Given the description of an element on the screen output the (x, y) to click on. 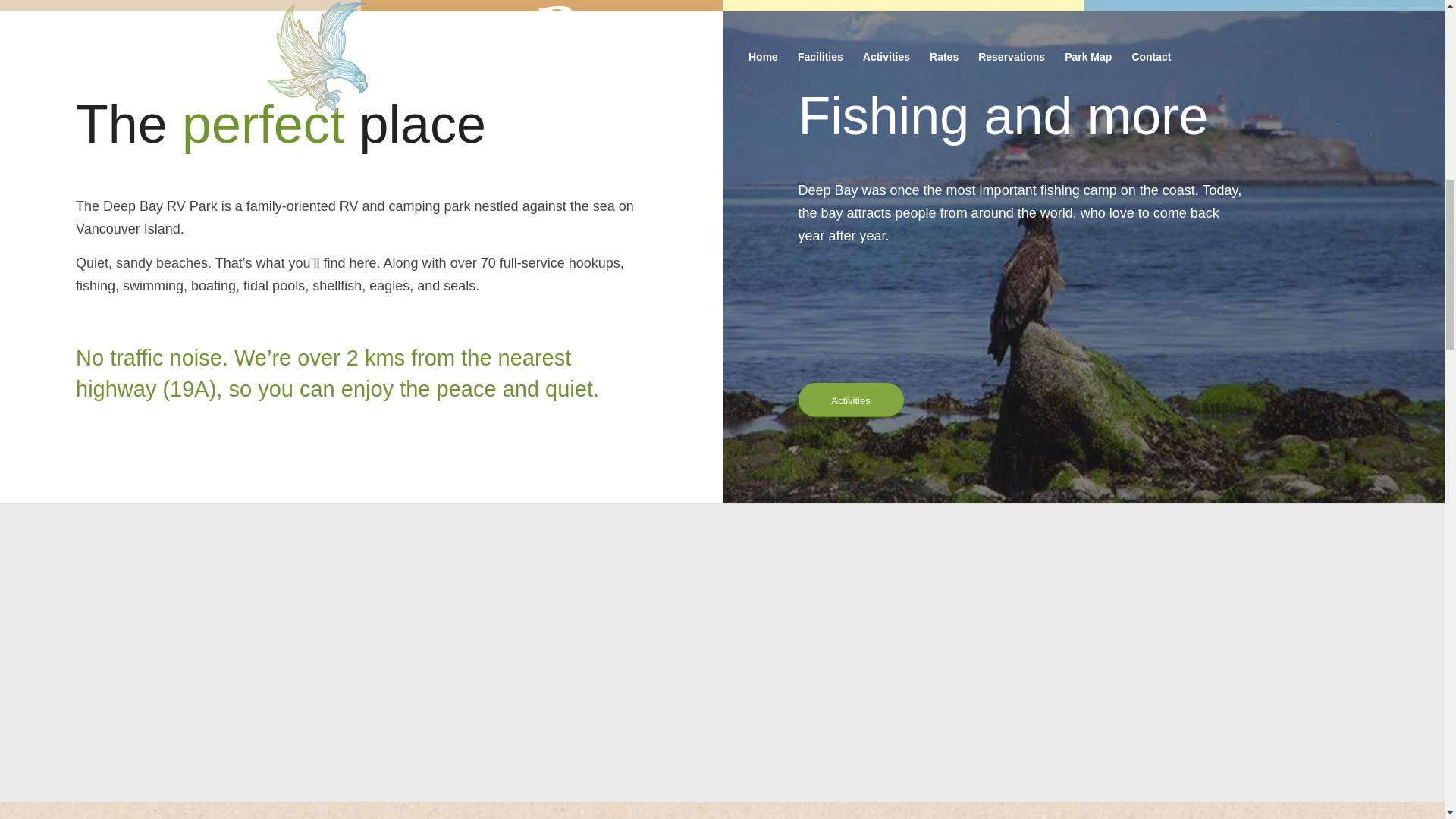
Activities (849, 400)
